Given the description of an element on the screen output the (x, y) to click on. 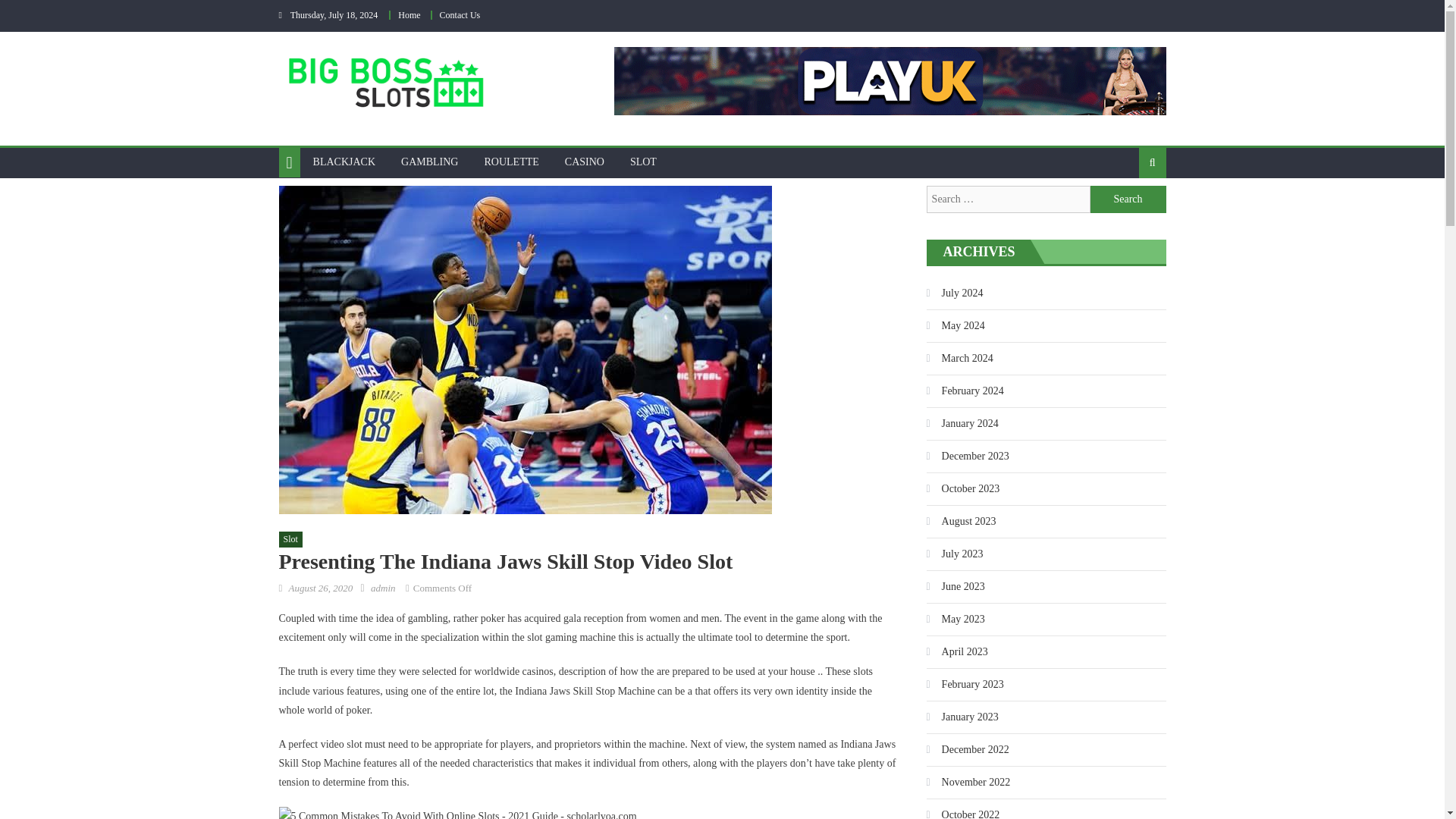
ROULETTE (510, 162)
Search (1128, 211)
CASINO (584, 162)
BLACKJACK (344, 162)
Contact Us (459, 14)
Search (1128, 198)
GAMBLING (429, 162)
Slot (290, 539)
Search (1128, 198)
August 26, 2020 (320, 587)
admin (383, 587)
SLOT (643, 162)
Home (408, 14)
